Given the description of an element on the screen output the (x, y) to click on. 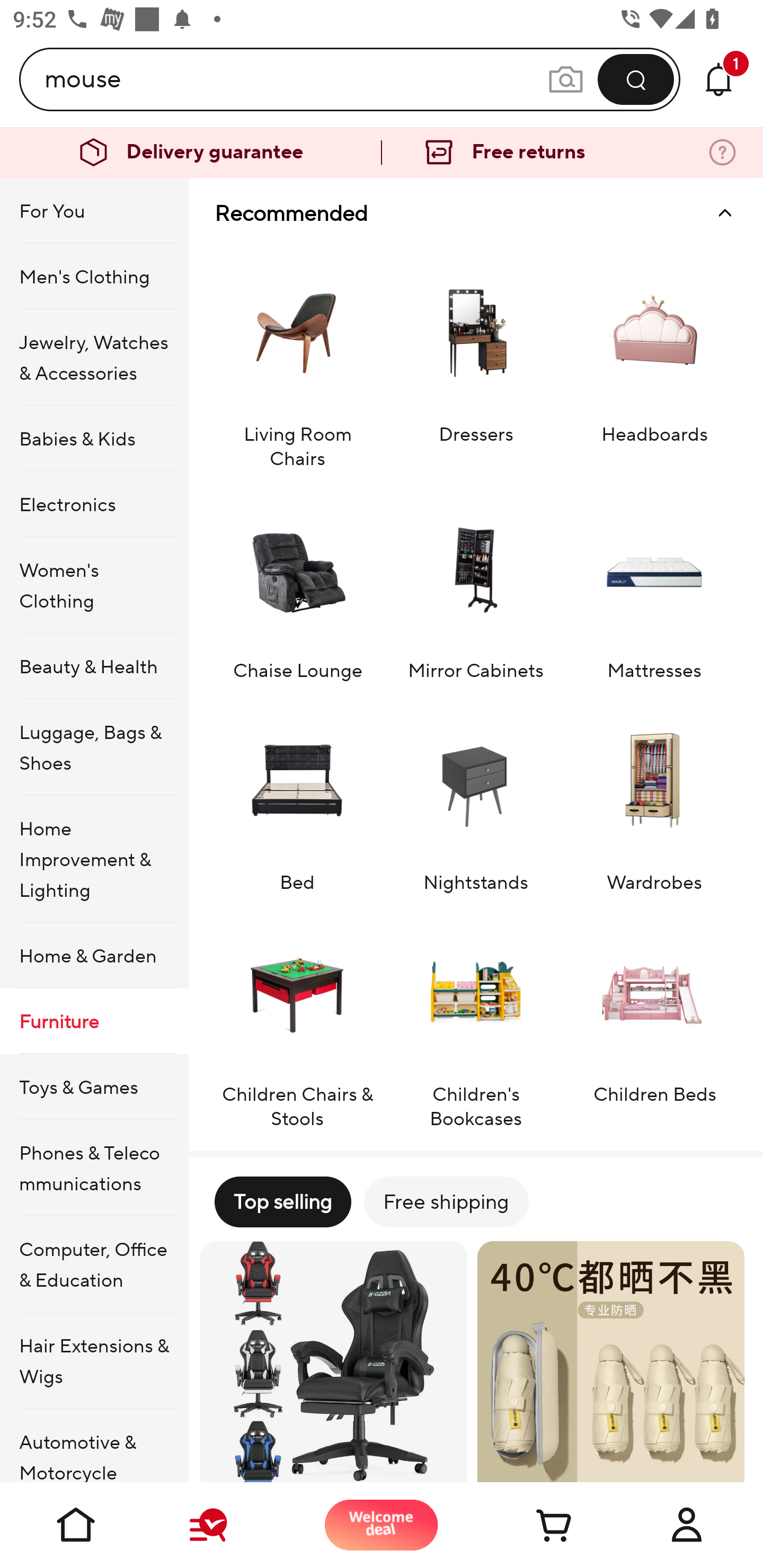
mouse Search query (295, 79)
Messages 1 (718, 79)
Delivery guarantee Free returns (381, 152)
For You (94, 210)
Recommended  (476, 212)
Men's Clothing (94, 275)
Living Room Chairs (296, 359)
Dressers (475, 359)
Headboards (654, 359)
Jewelry, Watches & Accessories (94, 357)
Babies & Kids (94, 438)
Electronics (94, 504)
Chaise Lounge (296, 583)
Mirror Cabinets (475, 583)
Mattresses (654, 583)
Women's Clothing (94, 585)
Beauty & Health (94, 666)
Bed (296, 795)
Nightstands (475, 795)
Wardrobes (654, 795)
Luggage, Bags & Shoes (94, 746)
Home Improvement & Lighting (94, 858)
Children Chairs & Stools (296, 1019)
Children's Bookcases (475, 1019)
Children Beds (654, 1019)
Home & Garden (94, 955)
Furniture (94, 1020)
Toys & Games (94, 1086)
Phones & Telecommunications (94, 1167)
Top selling (282, 1201)
Free shipping (445, 1201)
Computer, Office & Education (94, 1264)
Hair Extensions & Wigs (94, 1360)
Automotive & Motorcycle (94, 1445)
Home (76, 1524)
Cart (533, 1524)
Account (686, 1524)
